Given the description of an element on the screen output the (x, y) to click on. 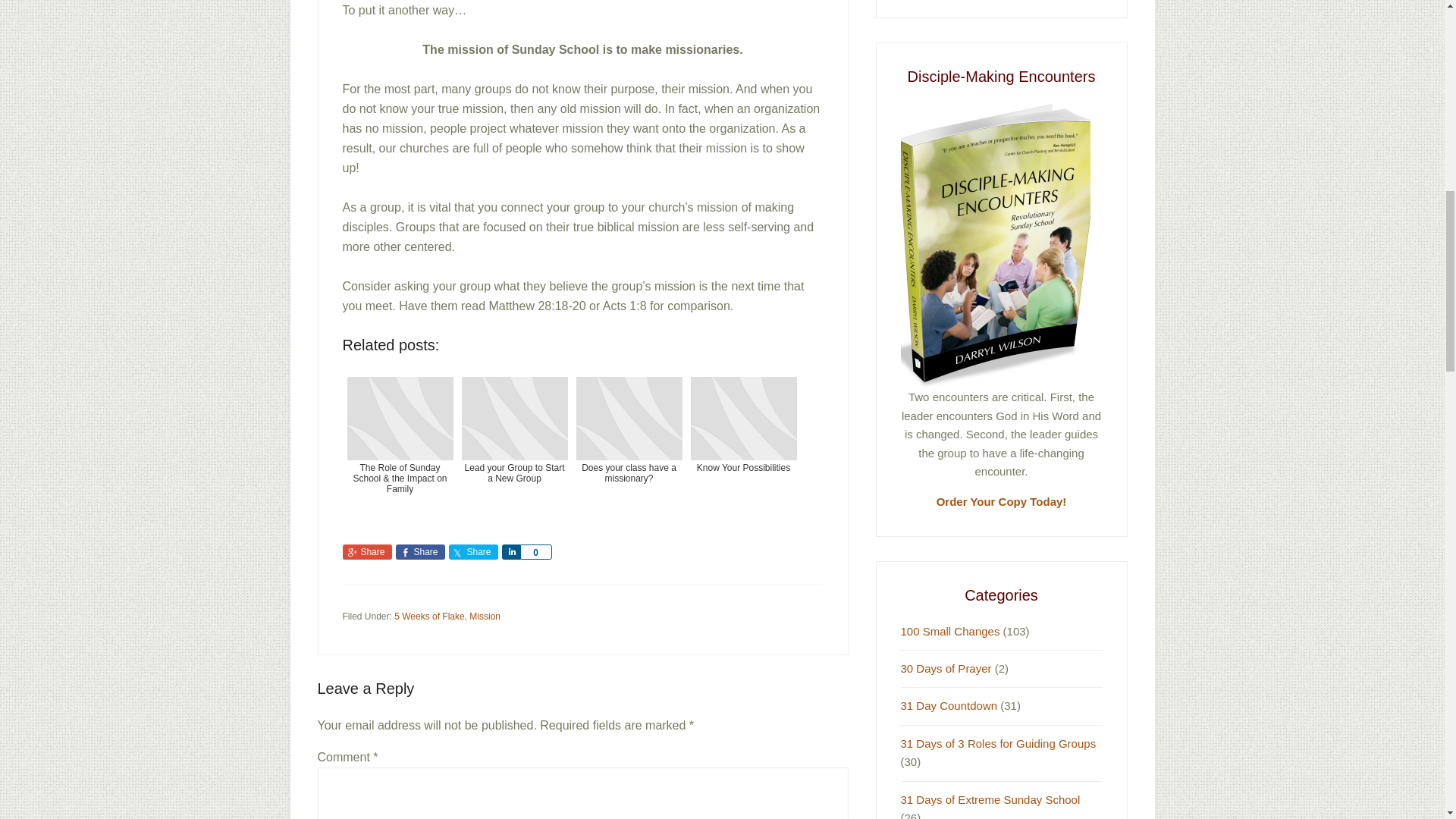
31 Day Countdown (949, 705)
Share (366, 551)
30 Days of Prayer (946, 667)
0 (535, 551)
Share (472, 551)
Share (420, 551)
31 Days of Extreme Sunday School (990, 799)
Share (510, 551)
Mission (484, 615)
31 Days of 3 Roles for Guiding Groups (998, 743)
100 Small Changes (950, 631)
Order Your Copy Today! (1001, 501)
5 Weeks of Flake (429, 615)
